Given the description of an element on the screen output the (x, y) to click on. 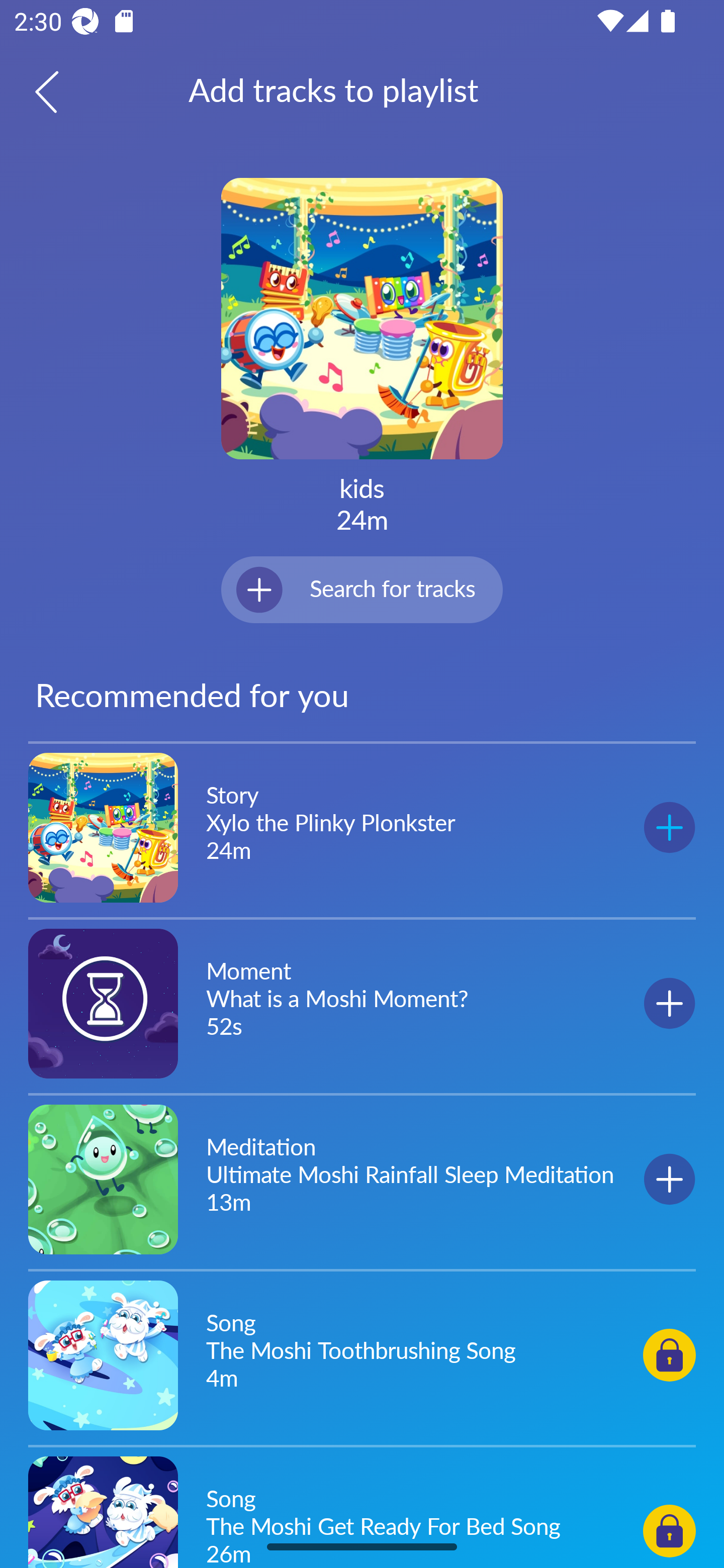
icon Search for tracks (361, 589)
Story Xylo the Plinky Plonkster 24m (361, 827)
Moment What is a Moshi Moment? 52s (361, 1003)
Song The Moshi Toothbrushing Song 4m (361, 1354)
Song The Moshi Get Ready For Bed Song 26m (361, 1509)
